Given the description of an element on the screen output the (x, y) to click on. 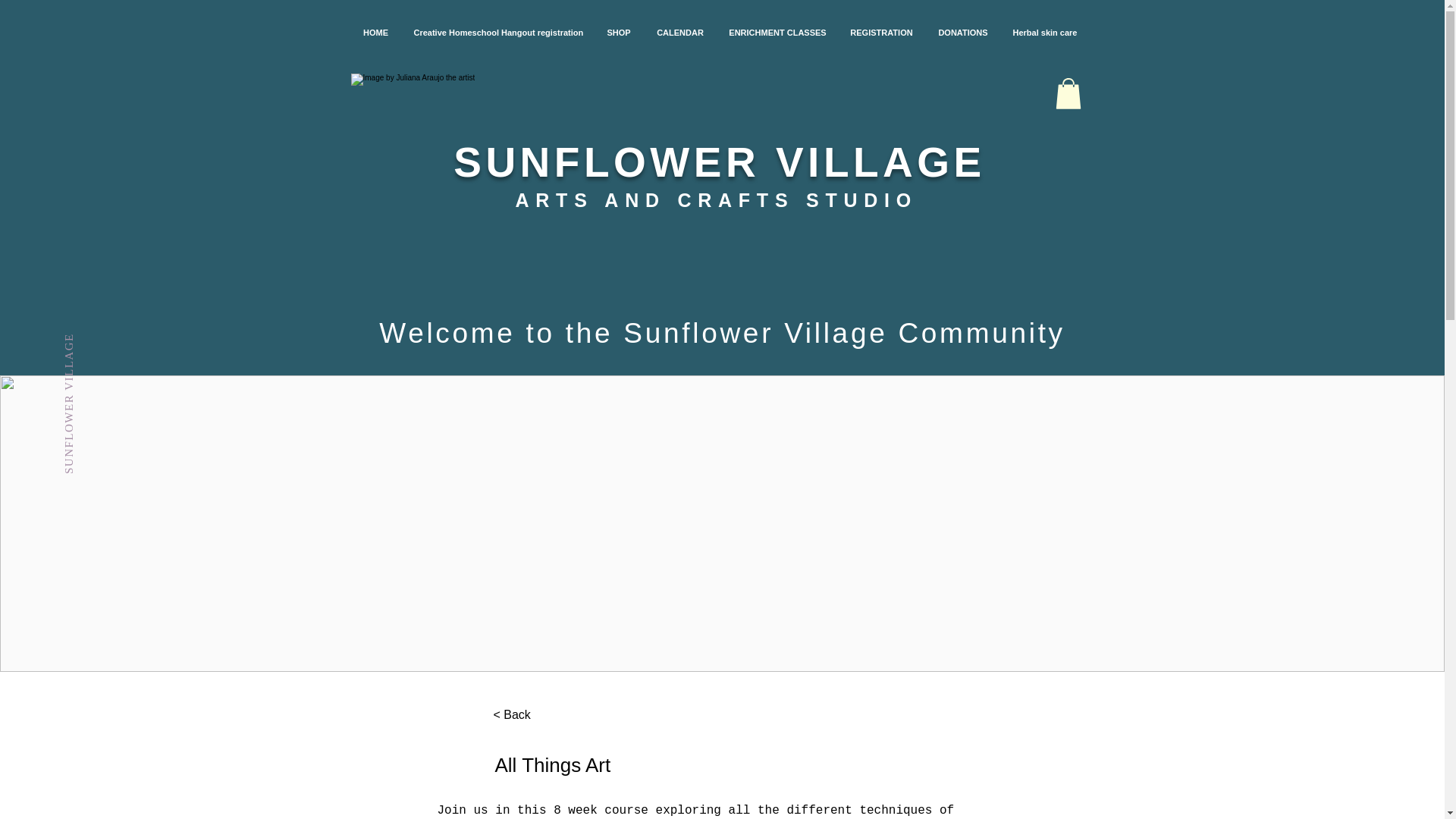
ENRICHMENT CLASSES (777, 32)
HOME (375, 32)
SUNFLOWER VILLAGE (132, 338)
Herbal skin care (1044, 32)
REGISTRATION (881, 32)
CALENDAR (679, 32)
Creative Homeschool Hangout registration (497, 32)
DONATIONS (962, 32)
SHOP (618, 32)
